Given the description of an element on the screen output the (x, y) to click on. 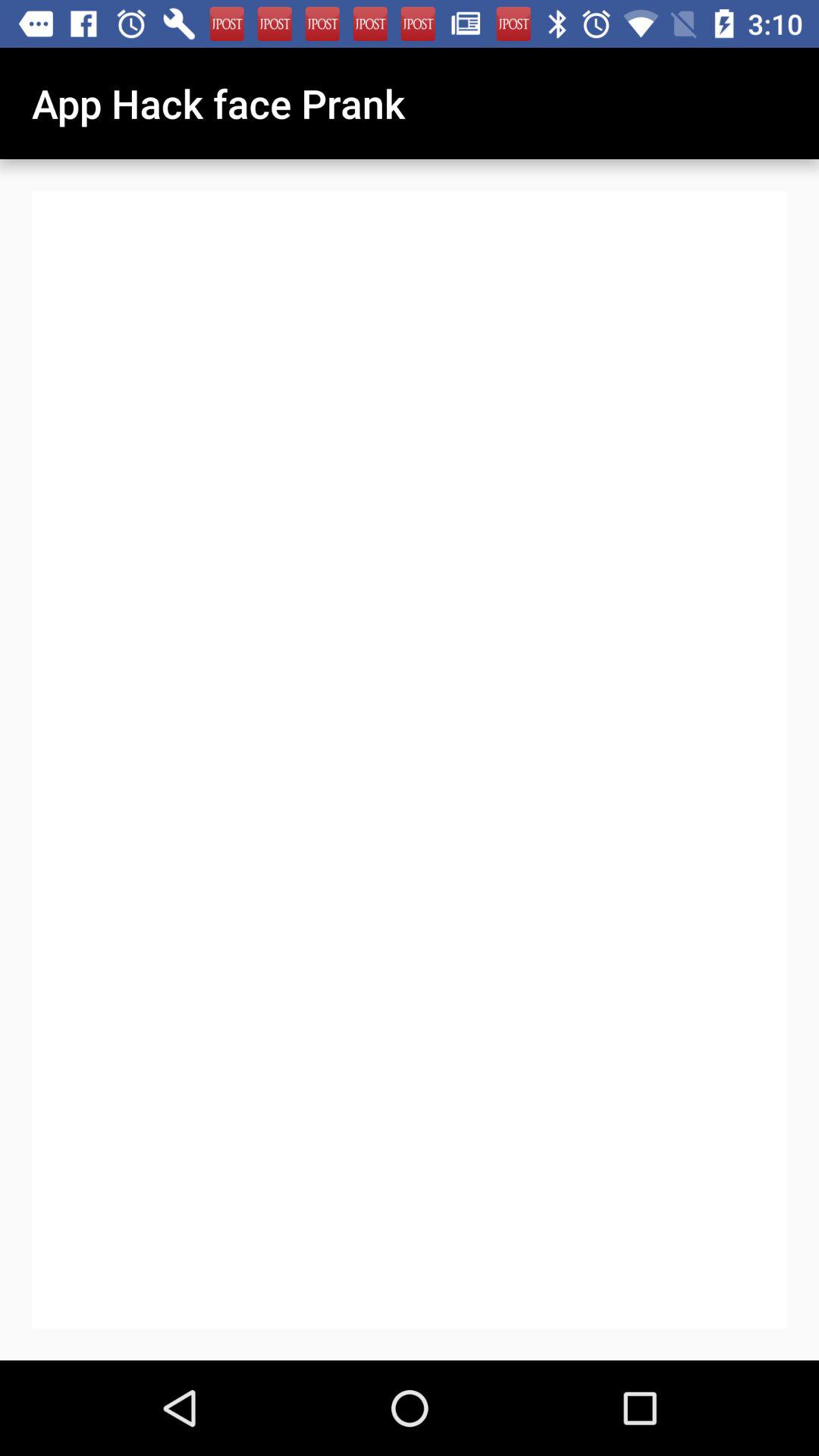
choose item below the app hack face app (470, 911)
